Given the description of an element on the screen output the (x, y) to click on. 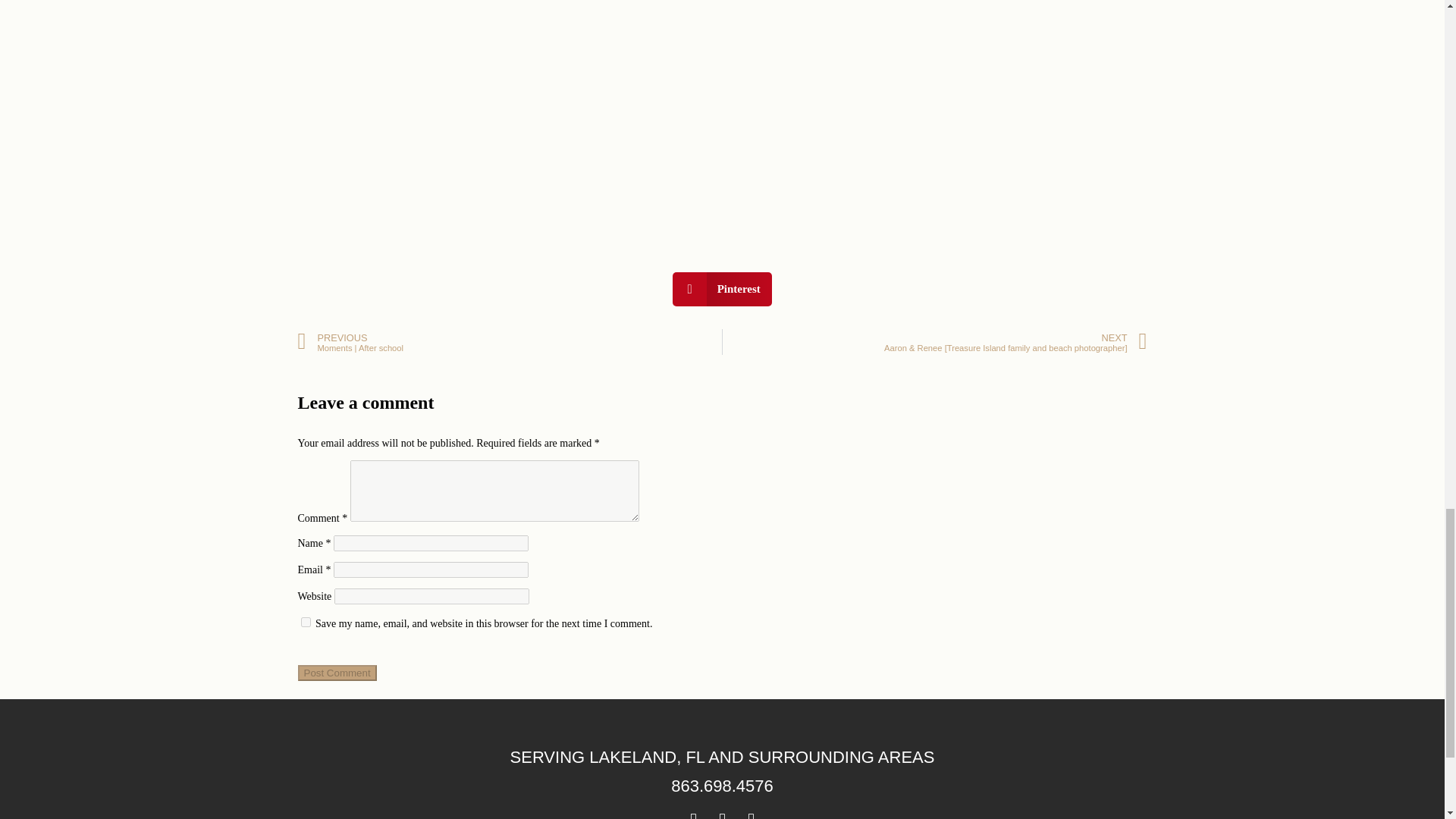
yes (304, 622)
Post Comment (336, 672)
Skinner-22-5x7 (842, 104)
Skinner-19-5x7 (464, 104)
Post Comment (336, 672)
863.698.4576 (722, 785)
